Given the description of an element on the screen output the (x, y) to click on. 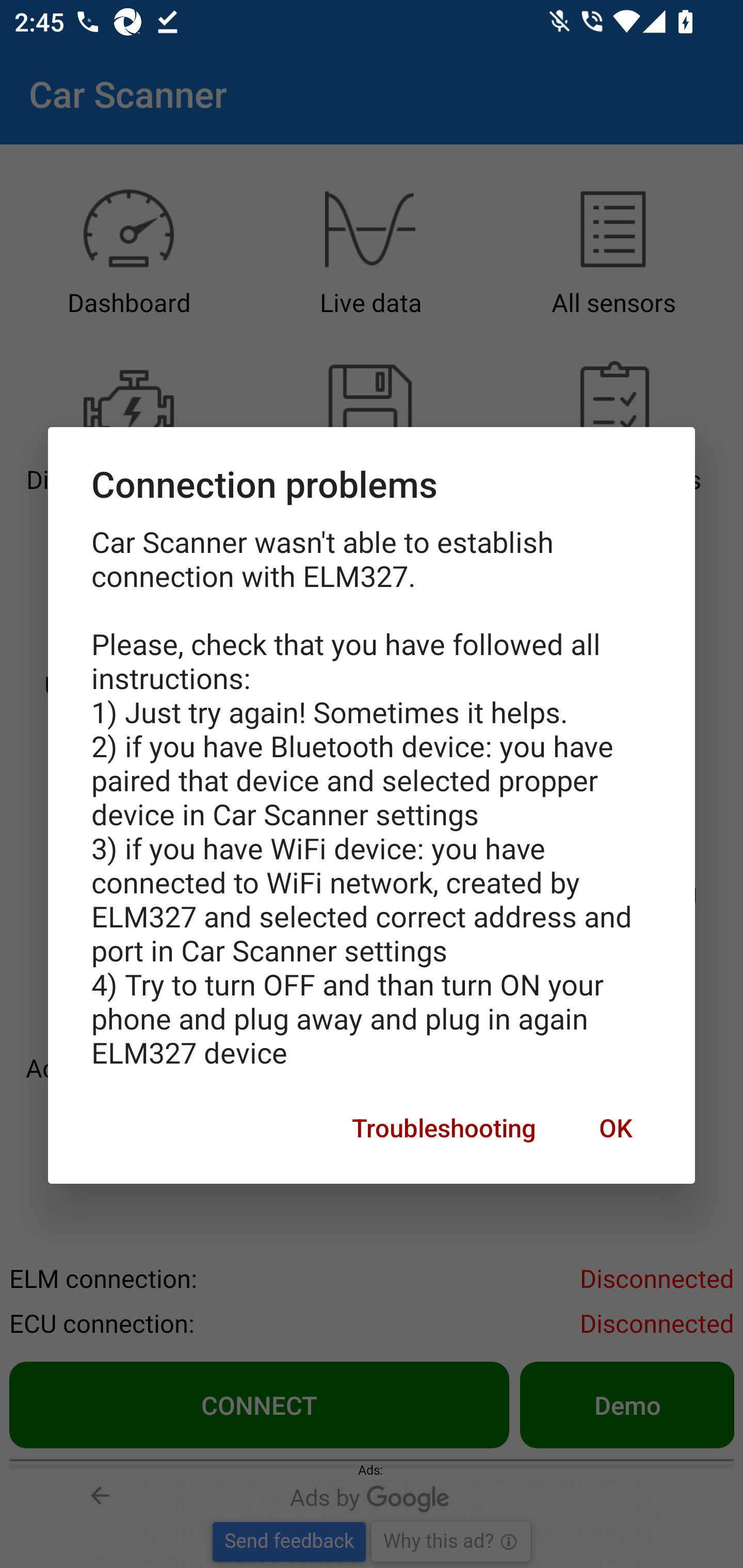
Troubleshooting (443, 1127)
OK (615, 1127)
